Given the description of an element on the screen output the (x, y) to click on. 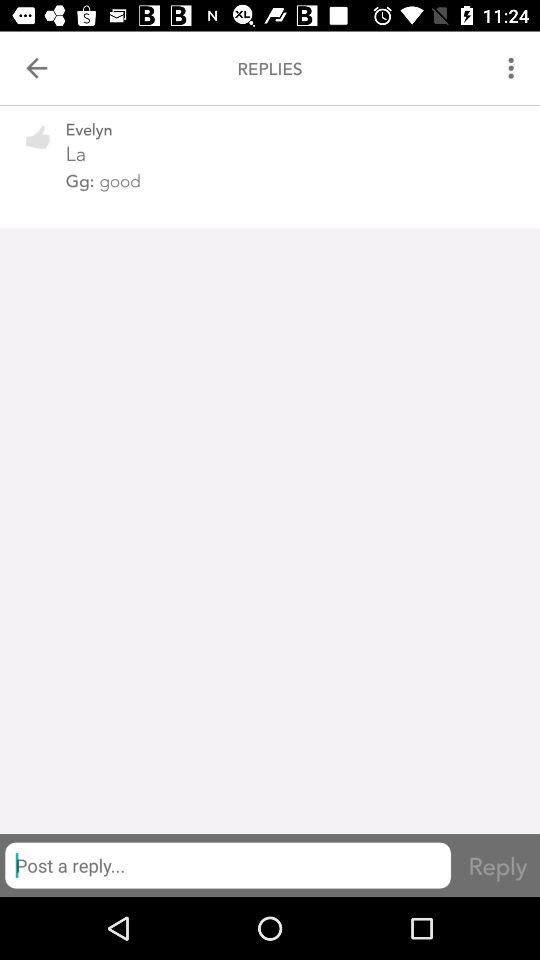
like reply (37, 149)
